Given the description of an element on the screen output the (x, y) to click on. 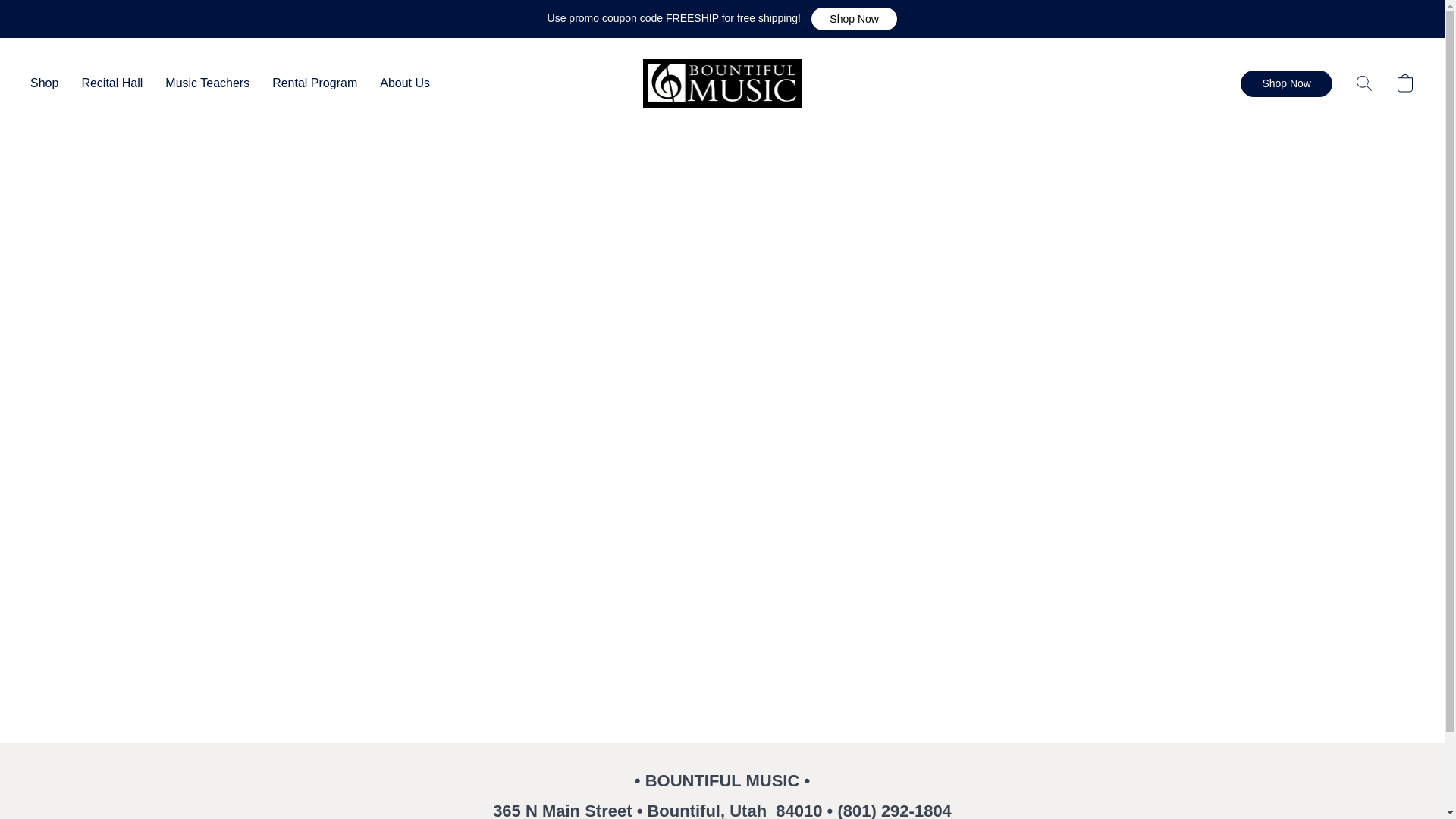
Shop Now (1286, 82)
Search the website (1363, 82)
Recital Hall (111, 82)
Shop (49, 82)
Rental Program (314, 82)
Shop Now (854, 18)
Go to your shopping cart (1404, 82)
About Us (398, 82)
Music Teachers (207, 82)
